Given the description of an element on the screen output the (x, y) to click on. 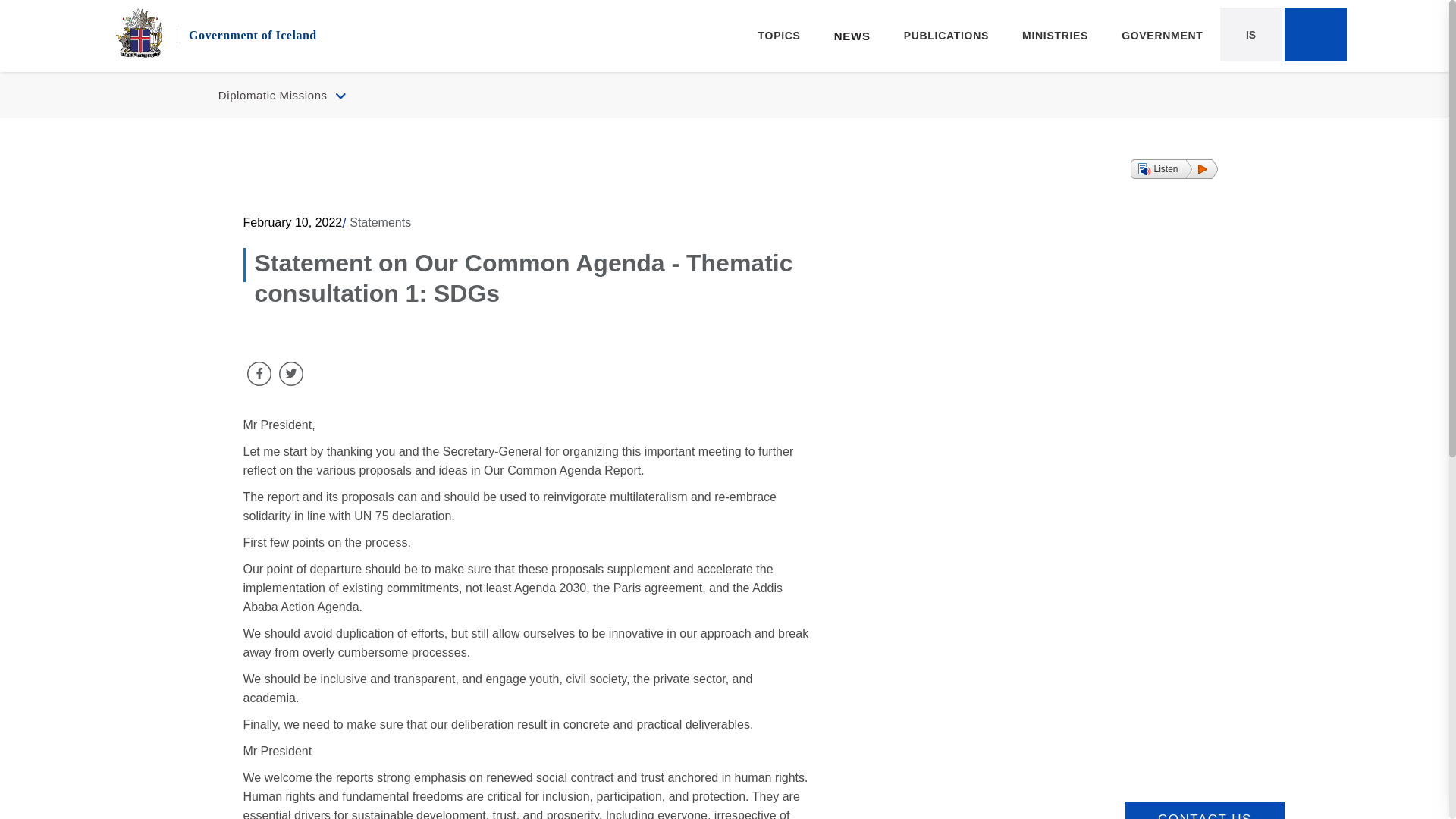
Leit (1315, 34)
NEWS (851, 36)
PUBLICATIONS (946, 36)
Hoppa yfir valmynd (234, 33)
TOPICS (51, 10)
Listen to this website read by ReadSpeaker (778, 36)
Government of Iceland (1174, 168)
